Given the description of an element on the screen output the (x, y) to click on. 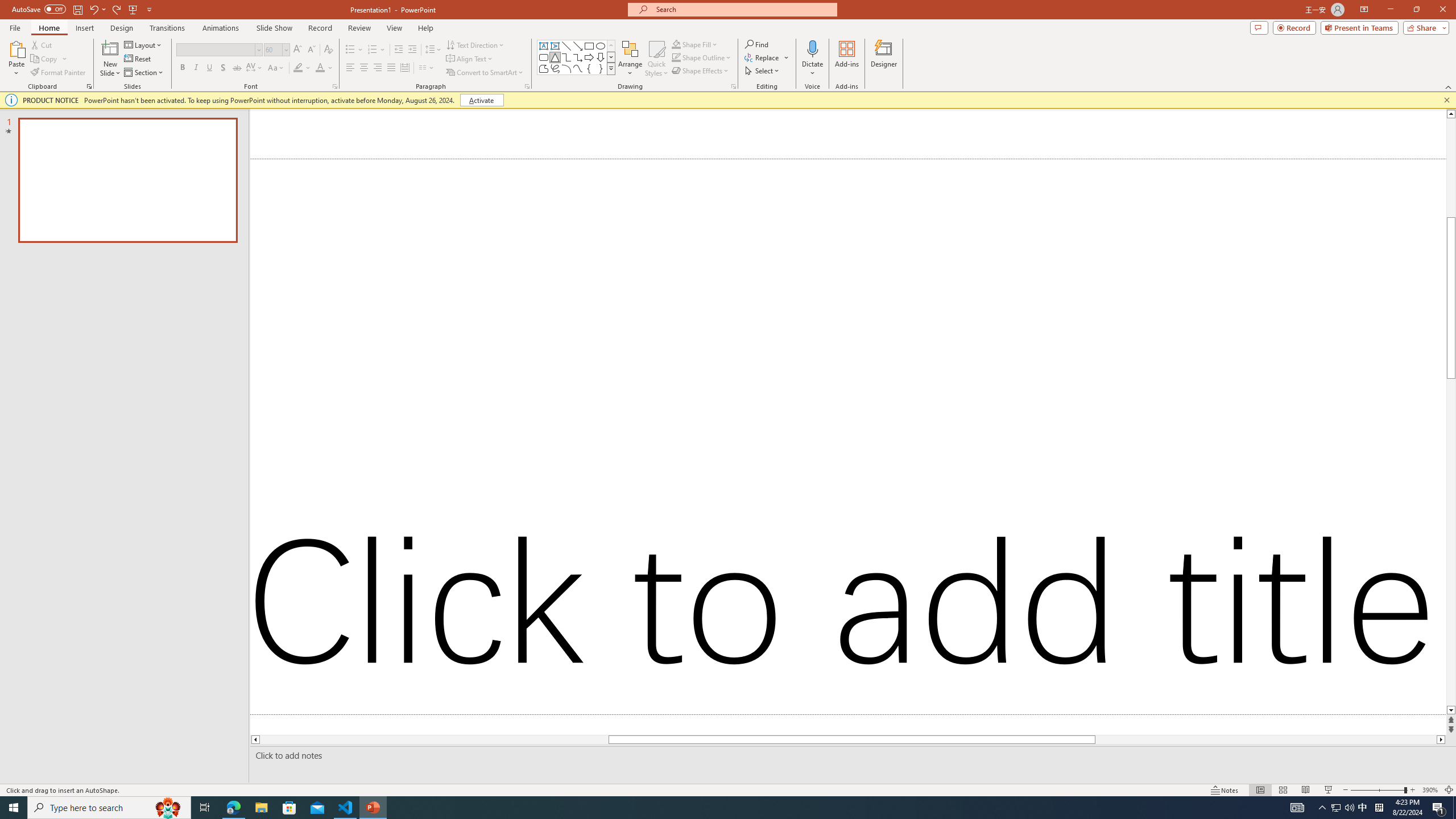
Designer (883, 58)
Quick Styles (656, 58)
Justify (390, 67)
Bullets (354, 49)
Arrow: Down (600, 57)
Dictate (812, 48)
Arrow: Right (589, 57)
Font (219, 49)
Right Brace (600, 68)
Arc (566, 68)
Dictate (812, 58)
